Given the description of an element on the screen output the (x, y) to click on. 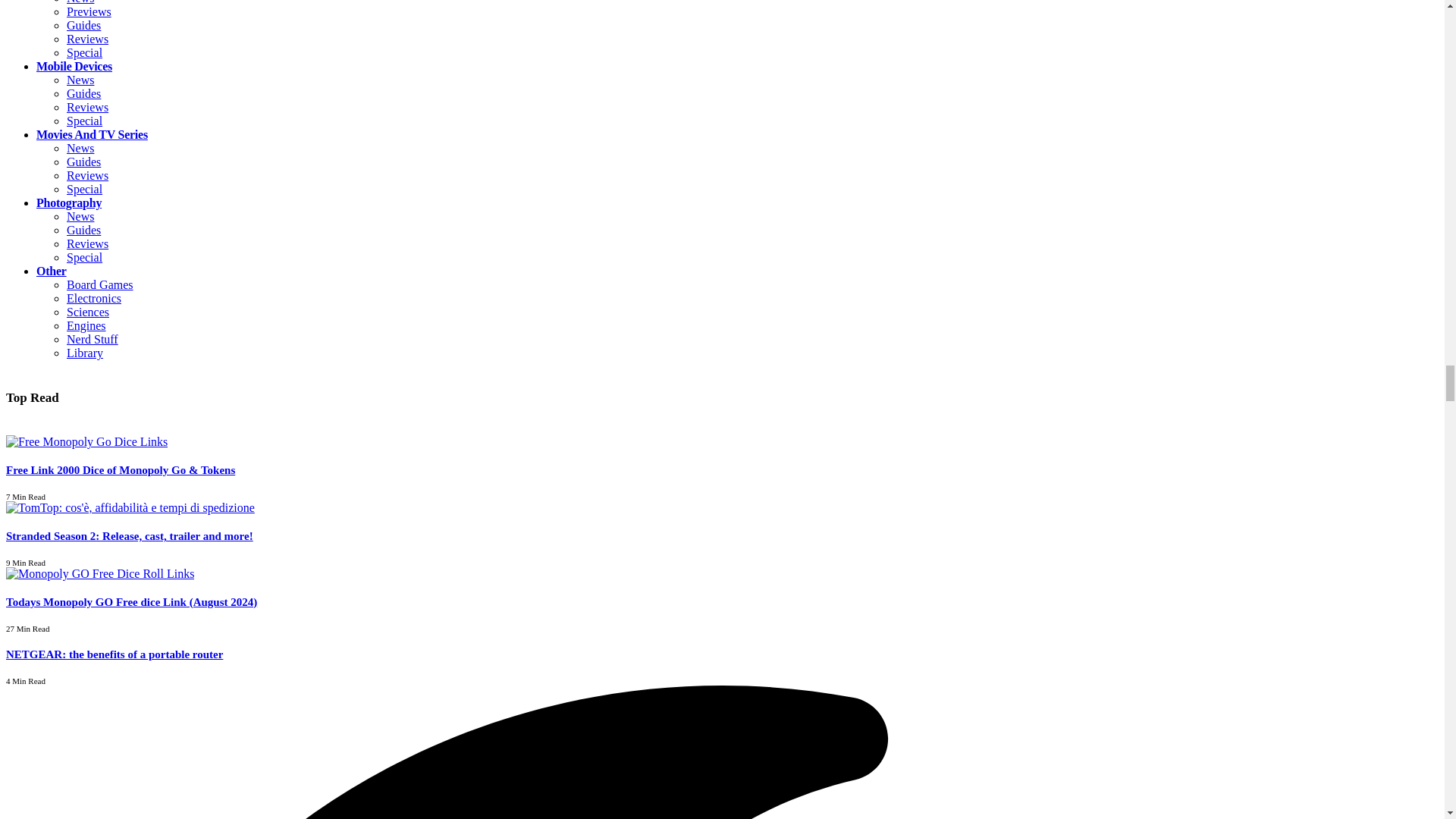
NETGEAR: the benefits of a portable router (113, 654)
Stranded Season 2: Release, cast, trailer and more! (129, 507)
Stranded Season 2: Release, cast, trailer and more! (129, 535)
